Given the description of an element on the screen output the (x, y) to click on. 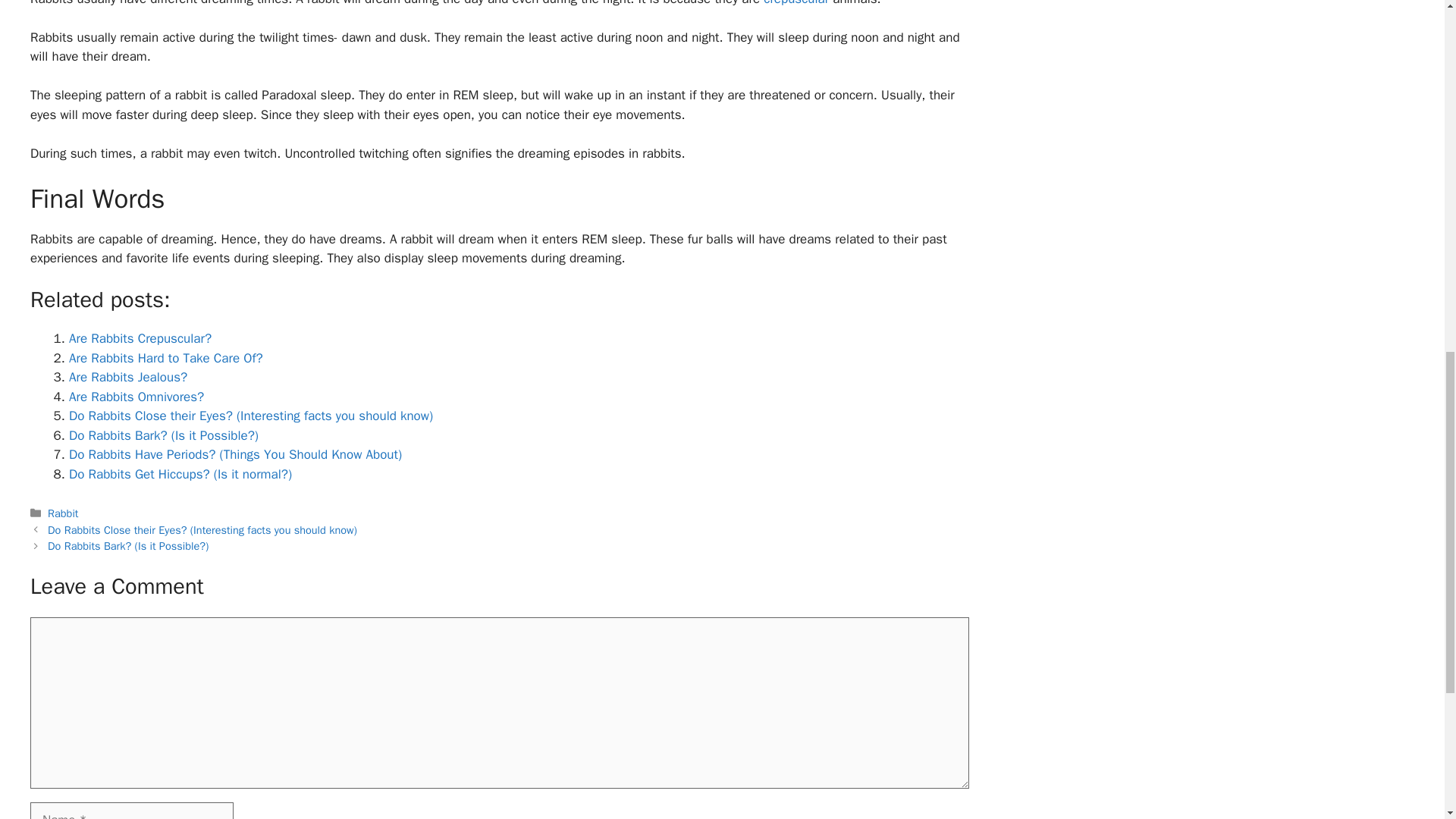
crepuscular (795, 56)
Are Rabbits Crepuscular? (139, 377)
Are Rabbits Omnivores? (135, 436)
Rabbit (63, 552)
Are Rabbits Hard to Take Care Of? (165, 397)
Are Rabbits Hard to Take Care Of? (165, 397)
Are Rabbits Jealous? (127, 416)
Are Rabbits Jealous? (127, 416)
Are Rabbits Crepuscular? (139, 377)
Are Rabbits Omnivores? (135, 436)
